Given the description of an element on the screen output the (x, y) to click on. 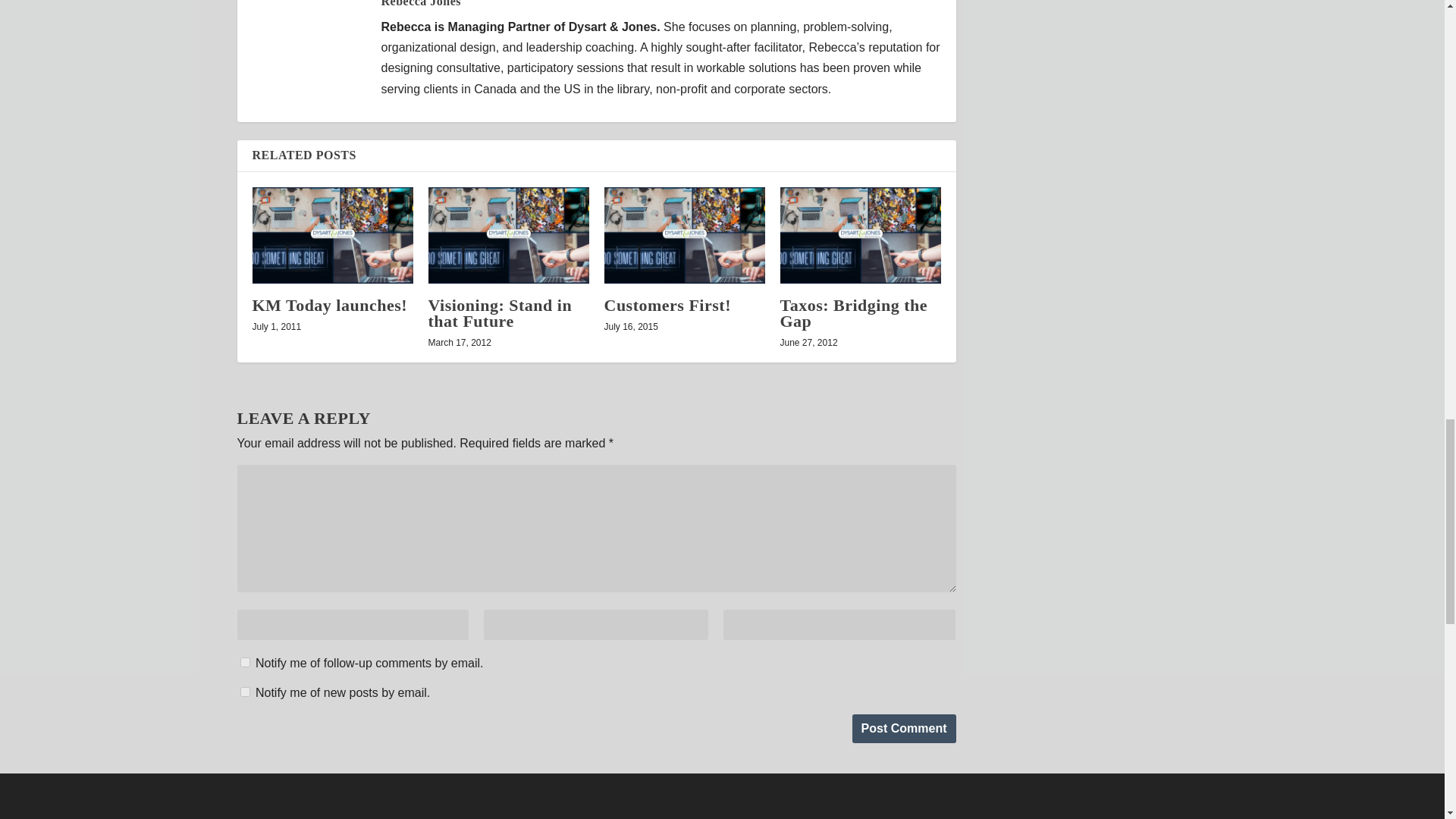
Customers First! (684, 235)
subscribe (244, 662)
View all posts by Rebecca Jones (420, 3)
KM Today launches! (331, 235)
Visioning: Stand in that Future (508, 235)
subscribe (244, 691)
Taxos: Bridging the Gap (859, 235)
Post Comment (903, 728)
